Given the description of an element on the screen output the (x, y) to click on. 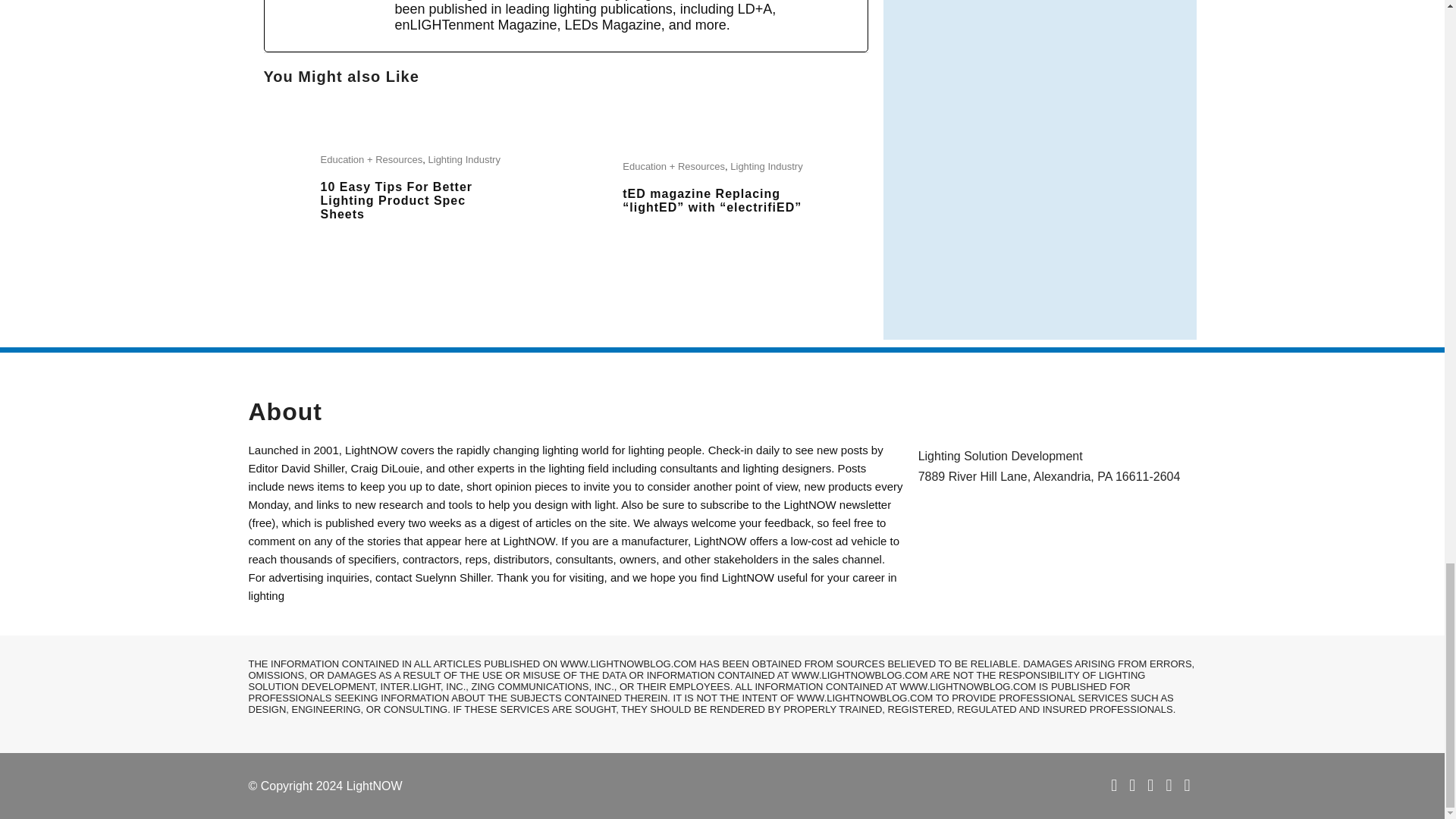
10 Easy Tips For Better Lighting Product Spec Sheets (395, 200)
Lighting Industry (766, 165)
Lighting Industry (464, 159)
